Given the description of an element on the screen output the (x, y) to click on. 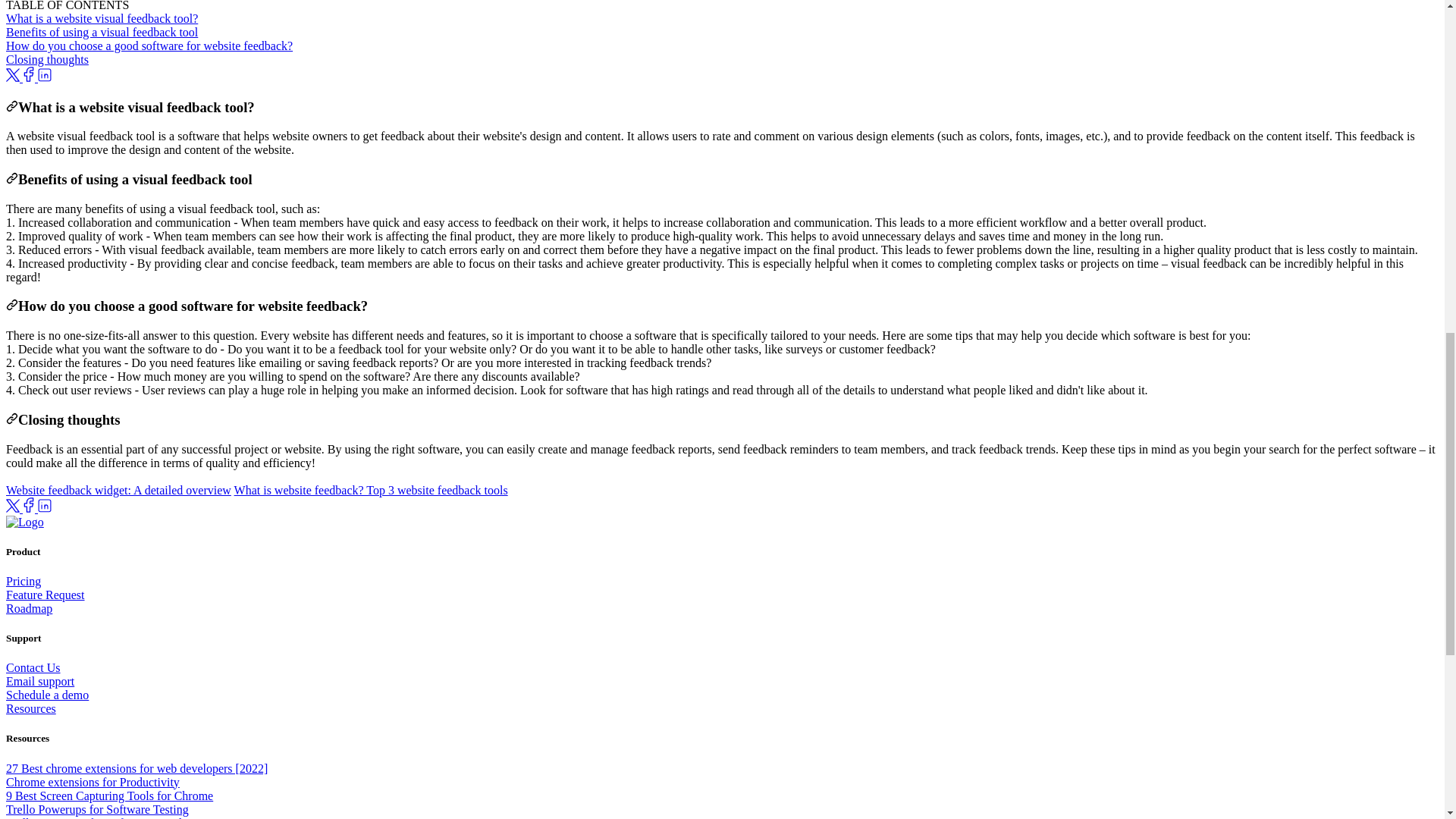
How do you choose a good software for website feedback? (148, 45)
Closing thoughts (46, 59)
What is a website visual feedback tool? (101, 18)
Benefits of using a visual feedback tool (101, 31)
Website feedback widget: A detailed overview (118, 490)
What is website feedback? Top 3 website feedback tools (371, 490)
